Given the description of an element on the screen output the (x, y) to click on. 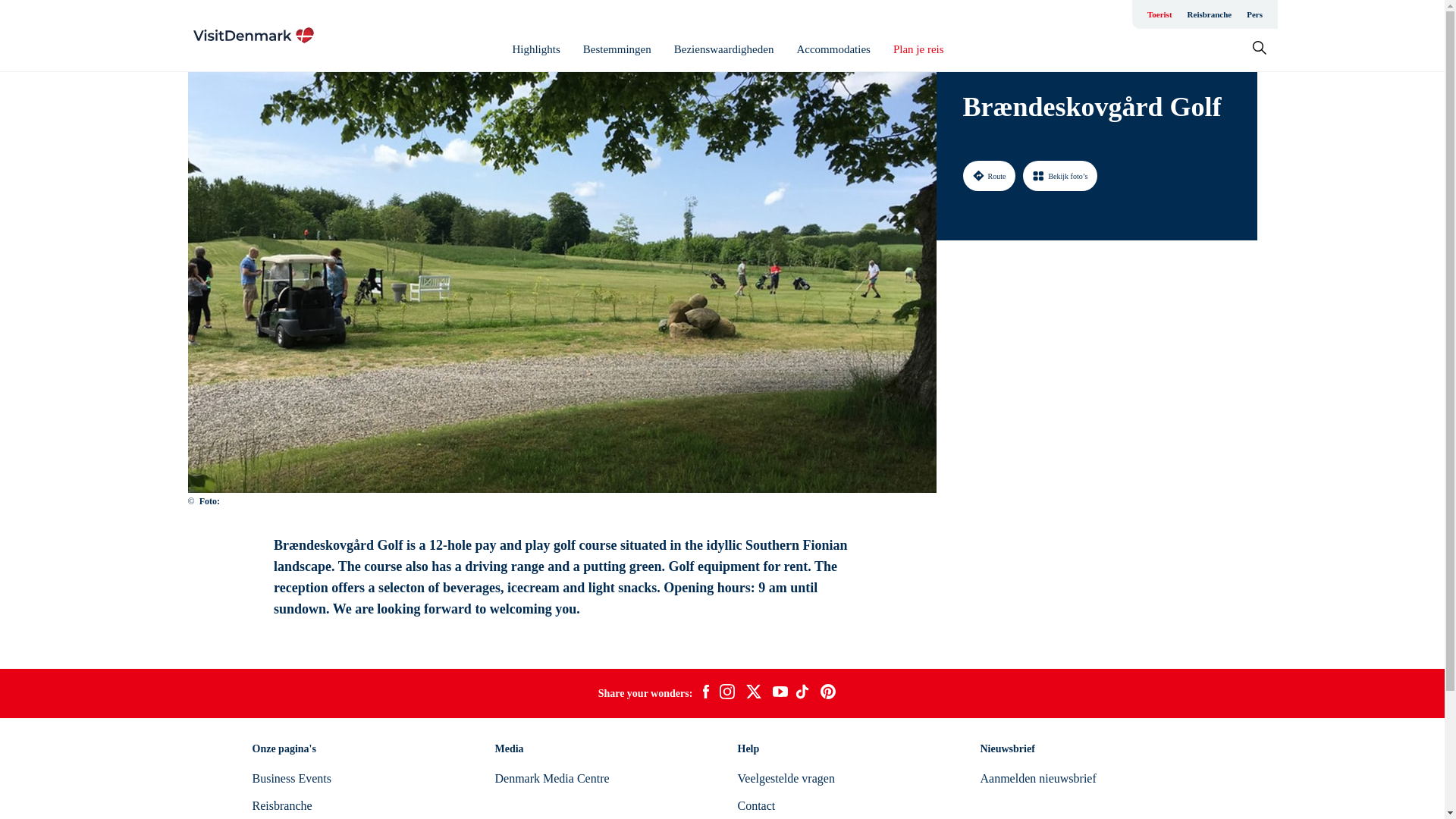
Reisbranche (281, 805)
Denmark Media Centre (551, 778)
Accommodaties (832, 49)
Route (989, 175)
Toerist (1159, 14)
Highlights (535, 49)
Reisbranche (1209, 14)
Pers (1254, 14)
Go to homepage (253, 35)
Business Events (290, 778)
